Given the description of an element on the screen output the (x, y) to click on. 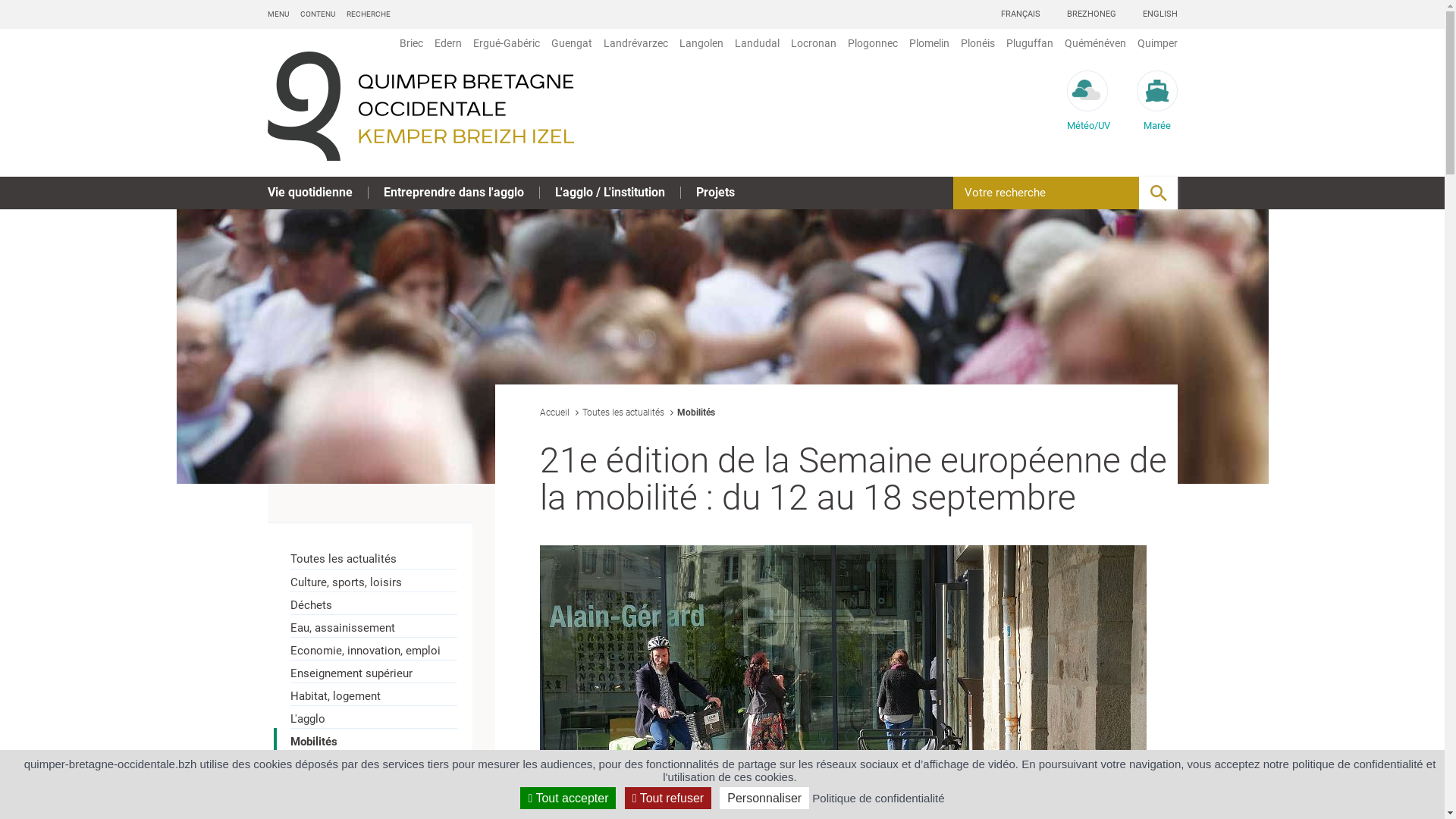
Culture, sports, loisirs Element type: text (379, 579)
Vie quotidienne Element type: text (308, 192)
Locronan Element type: text (811, 43)
Personnaliser Element type: text (764, 798)
Accueil Element type: text (554, 412)
ENGLISH Element type: text (1159, 13)
Tout refuser Element type: text (667, 798)
Habitat, logement Element type: text (379, 693)
MENU Element type: text (277, 13)
Landudal Element type: text (755, 43)
Projet : Gare-Parc Element type: text (379, 784)
Entreprendre dans l'agglo Element type: text (453, 192)
Edern Element type: text (445, 43)
Piscines Element type: text (379, 761)
CONTENU Element type: text (317, 13)
Guengat Element type: text (569, 43)
Tout accepter Element type: text (567, 798)
Quimper Element type: text (1154, 43)
Plomelin Element type: text (927, 43)
Projets Element type: text (715, 192)
Economie, innovation, emploi Element type: text (379, 648)
Briec Element type: text (409, 43)
L'agglo / L'institution Element type: text (610, 192)
Eau, assainissement Element type: text (379, 625)
L'agglo Element type: text (379, 716)
Pluguffan Element type: text (1027, 43)
Plogonnec Element type: text (870, 43)
BREZHONEG Element type: text (1090, 13)
Langolen Element type: text (698, 43)
RECHERCHE Element type: text (367, 13)
